Given the description of an element on the screen output the (x, y) to click on. 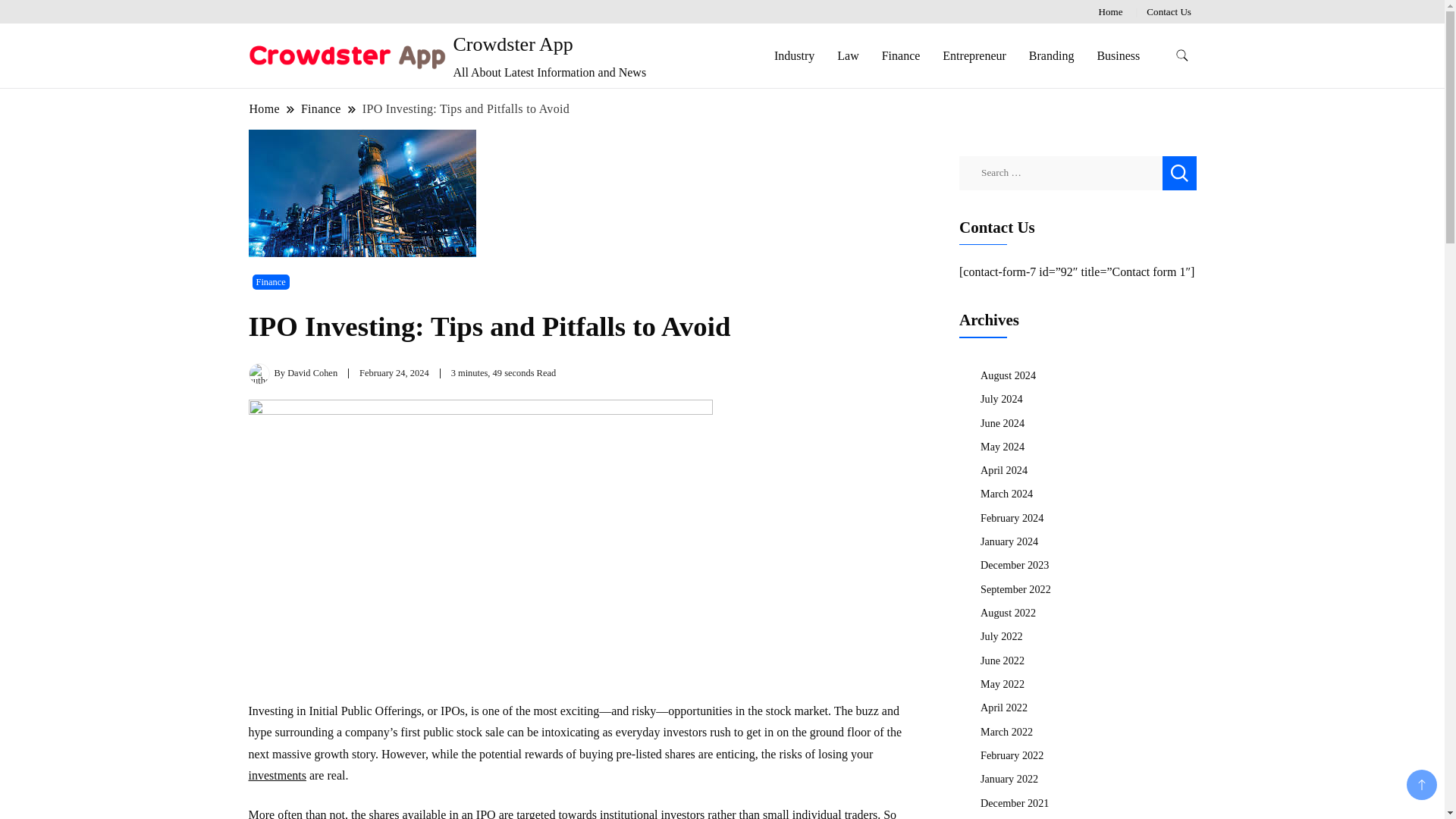
Finance (320, 108)
Home (1110, 11)
Finance (269, 281)
Contact Us (1169, 11)
Industry (794, 55)
Branding (1051, 55)
Search (1178, 173)
Home (264, 108)
IPO Investing: Tips and Pitfalls to Avoid (465, 108)
Business (1118, 55)
